Given the description of an element on the screen output the (x, y) to click on. 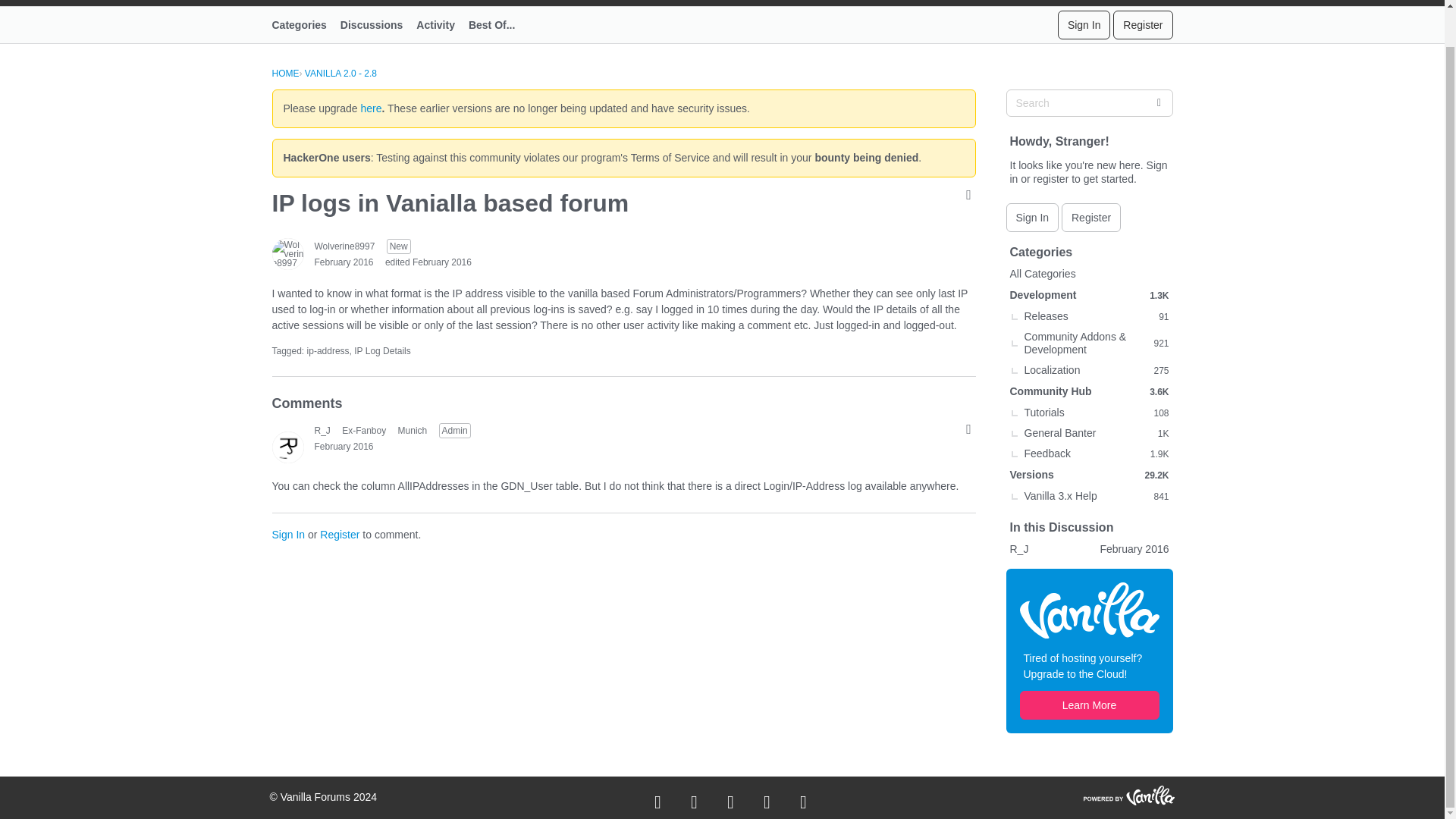
New (398, 246)
Powered By Vanilla (1128, 795)
108 discussions (1161, 412)
3,559 discussions (1159, 391)
HOME (284, 72)
921 discussions (1161, 343)
Discussions (378, 24)
Register (339, 534)
Register (1142, 24)
February 2016 (343, 445)
Wolverine8997 (286, 254)
Categories (304, 24)
Administrator (454, 429)
February 8, 2016 8:43AM (343, 445)
VANILLA 2.0 - 2.8 (340, 72)
